Given the description of an element on the screen output the (x, y) to click on. 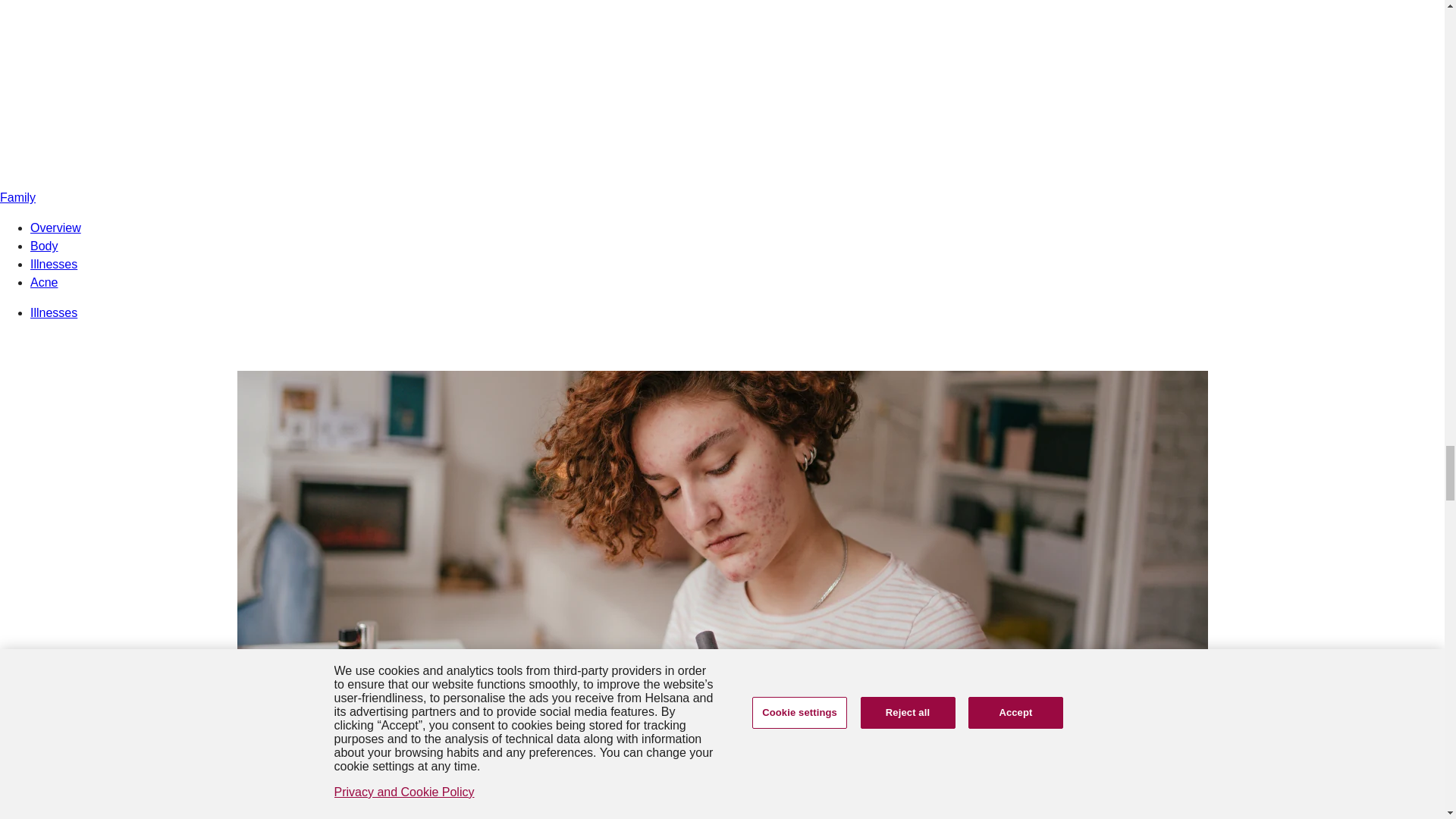
Subscribe to the newsletter (725, 721)
Acne: causes and treatment (722, 775)
